Given the description of an element on the screen output the (x, y) to click on. 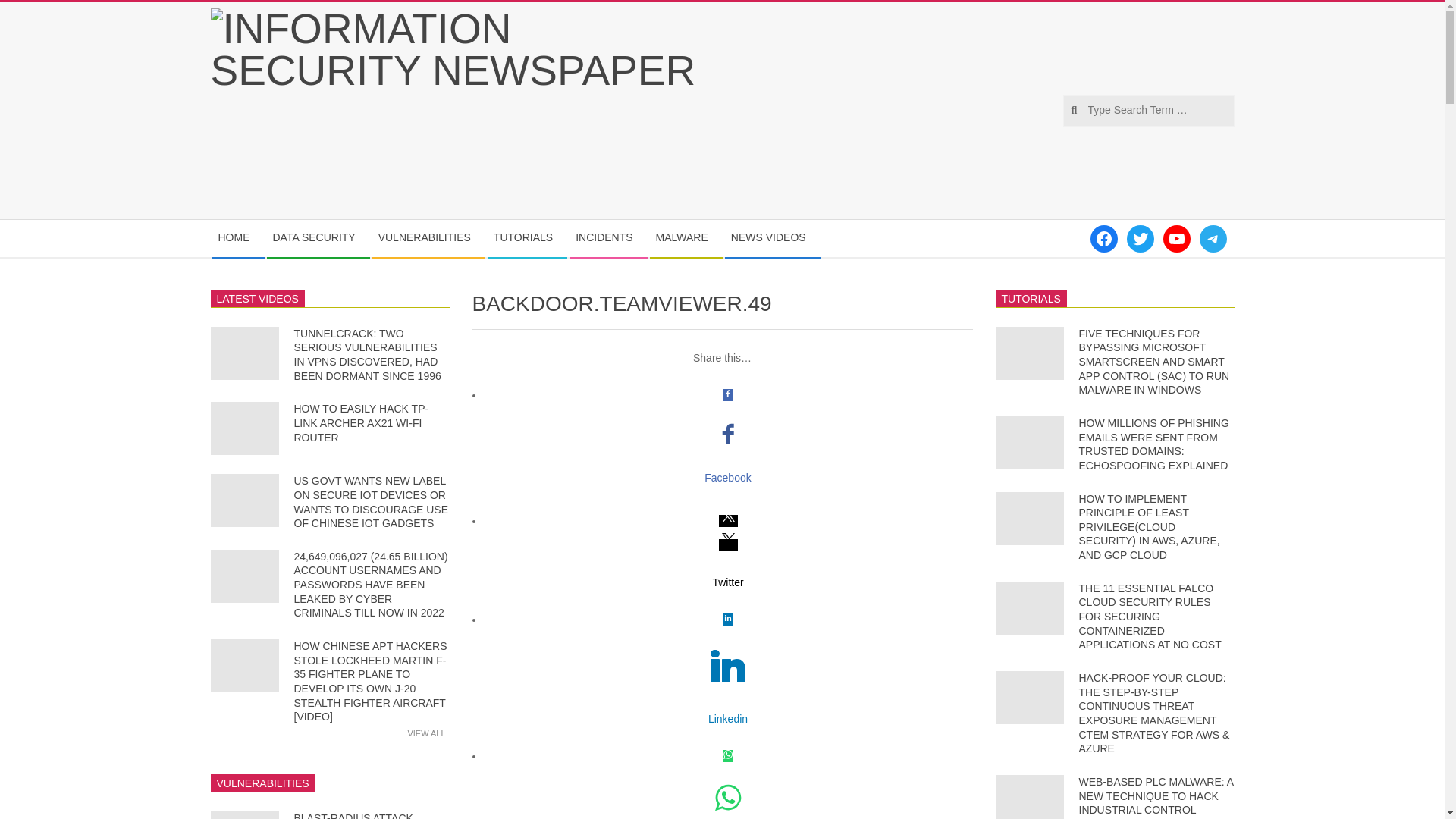
HOME (237, 238)
DATA SECURITY (317, 238)
Twitter (727, 582)
Linkedin (727, 719)
Facebook (727, 477)
VULNERABILITIES (428, 238)
TUTORIALS (526, 238)
